Given the description of an element on the screen output the (x, y) to click on. 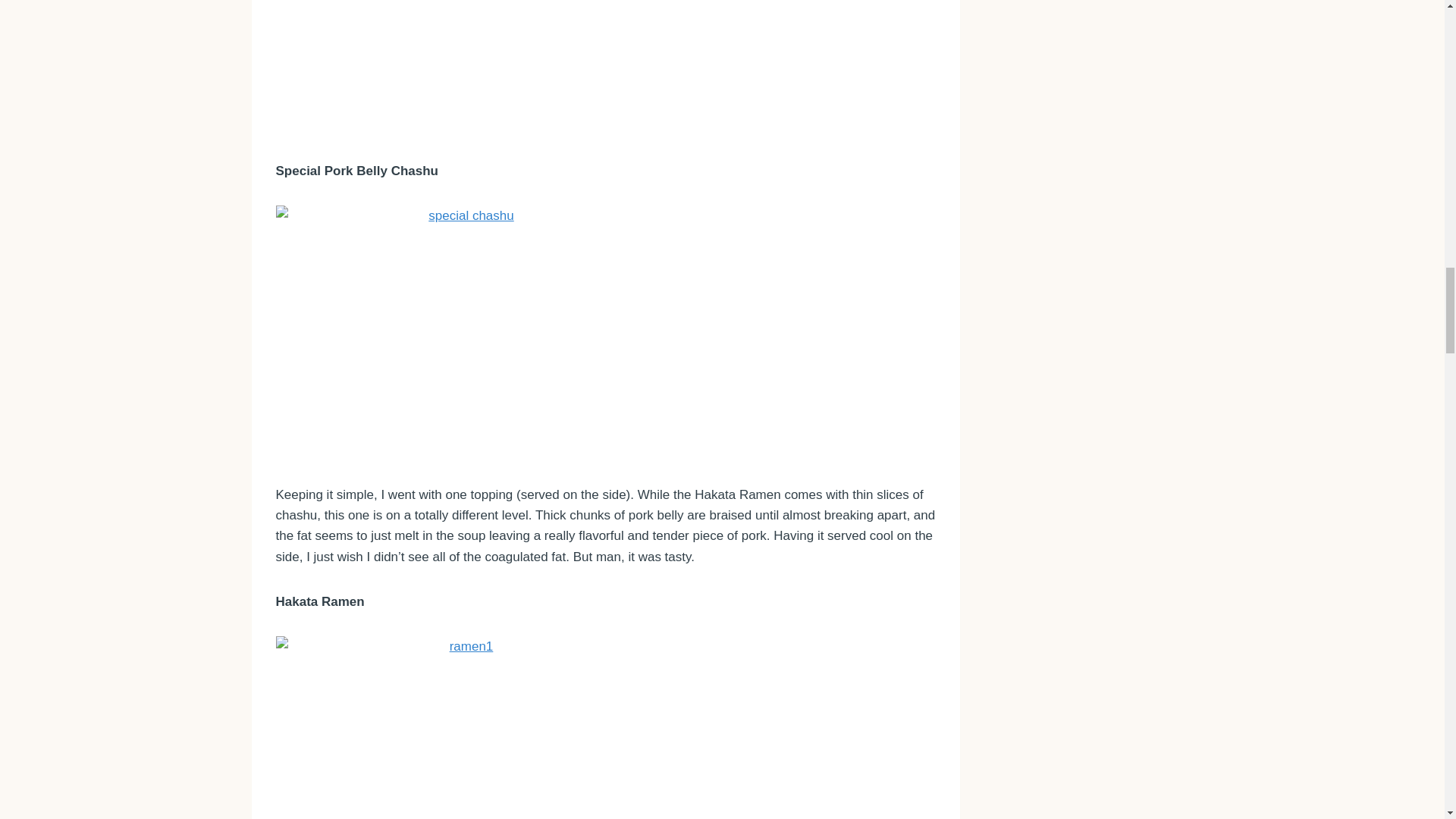
customization by Darin Dines, on Flickr (606, 68)
ramen1 by Darin Dines, on Flickr (606, 727)
